Given the description of an element on the screen output the (x, y) to click on. 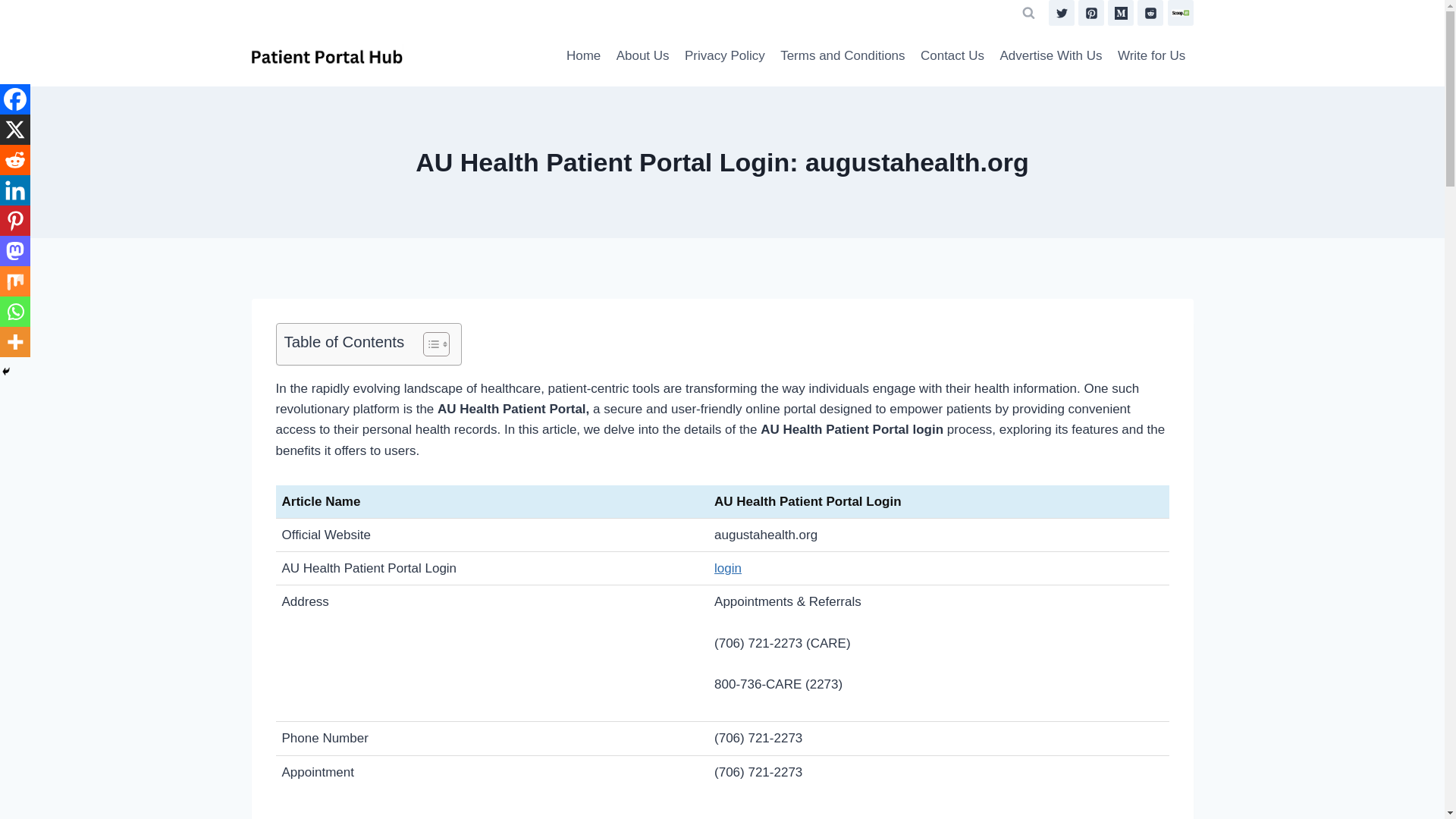
About Us (642, 55)
Write for Us (1151, 55)
Home (583, 55)
Privacy Policy (725, 55)
login (727, 568)
Contact Us (951, 55)
Terms and Conditions (842, 55)
Advertise With Us (1050, 55)
